Given the description of an element on the screen output the (x, y) to click on. 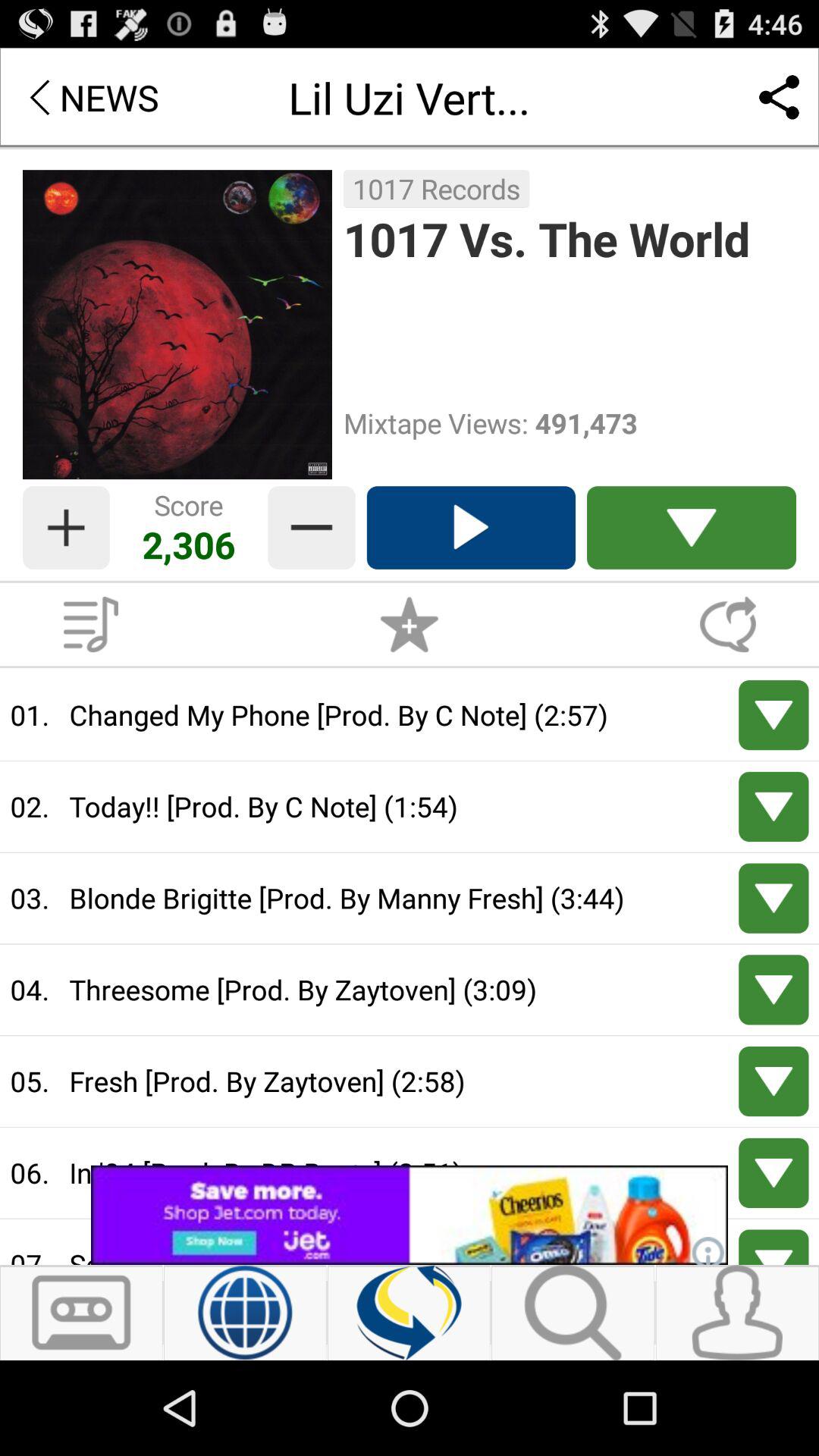
open list (691, 527)
